Given the description of an element on the screen output the (x, y) to click on. 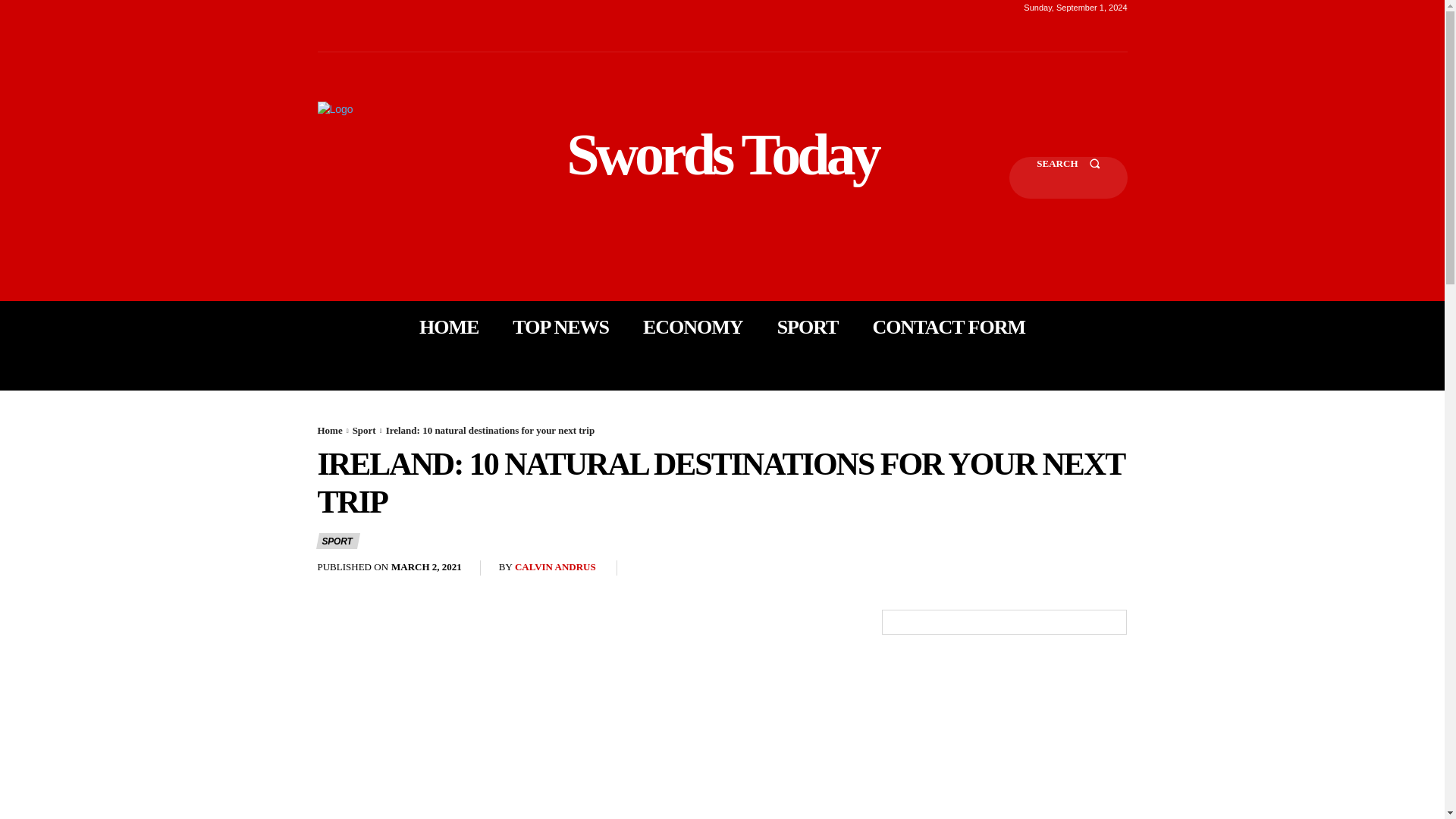
Swords Today (722, 154)
SPORT (337, 540)
CALVIN ANDRUS (555, 567)
ECONOMY (692, 327)
Home (329, 430)
Search (1067, 178)
CONTACT FORM (948, 327)
View all posts in Sport (363, 430)
Sport (363, 430)
SPORT (807, 327)
